Given the description of an element on the screen output the (x, y) to click on. 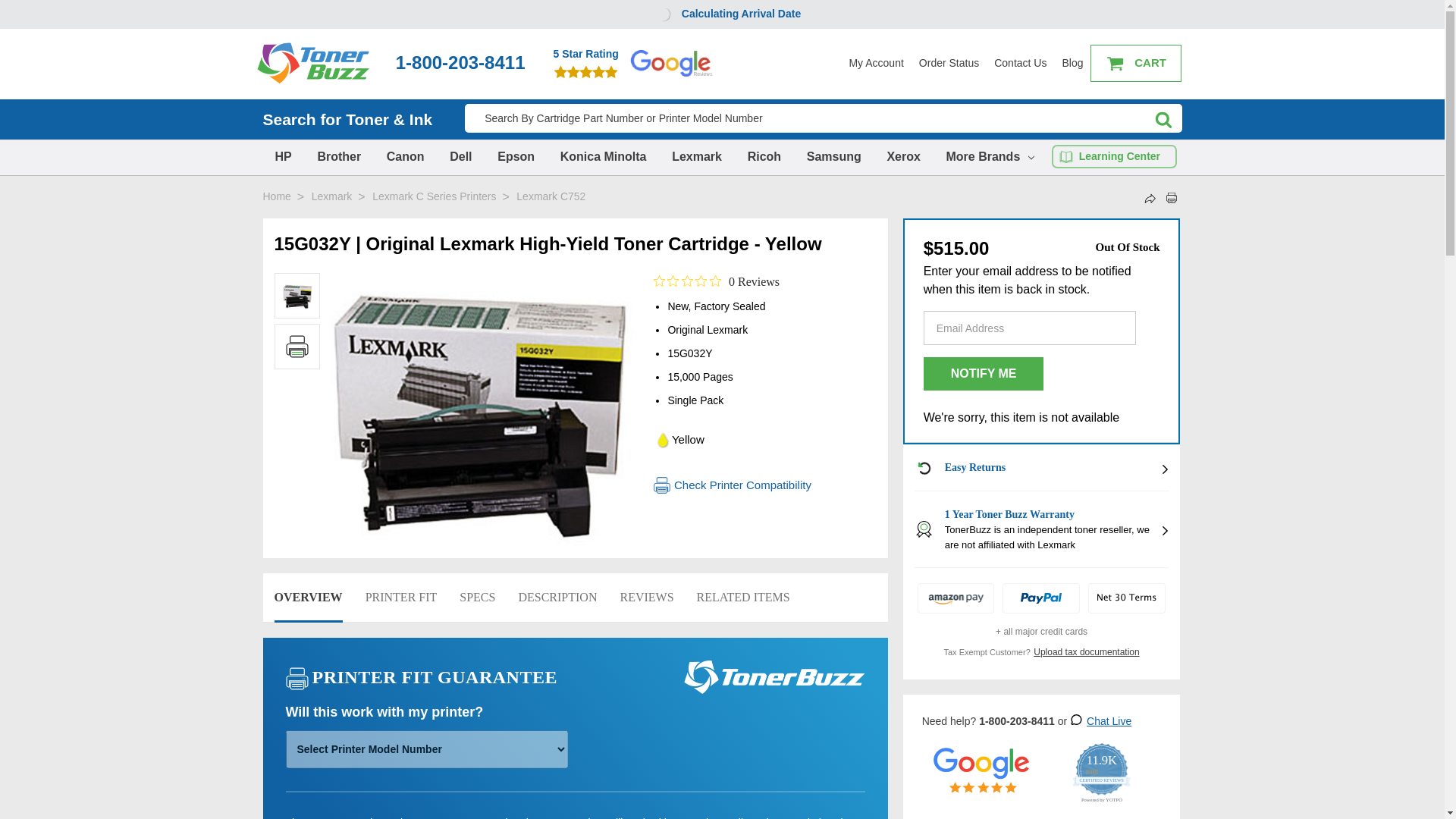
Blog (1072, 63)
Toner Buzz (312, 63)
Loading icon (662, 13)
1-800-203-8411 (460, 62)
Brother (338, 156)
CART (1135, 63)
Contact Us (1020, 63)
Epson (515, 156)
HP (282, 156)
Konica Minolta (603, 156)
